Given the description of an element on the screen output the (x, y) to click on. 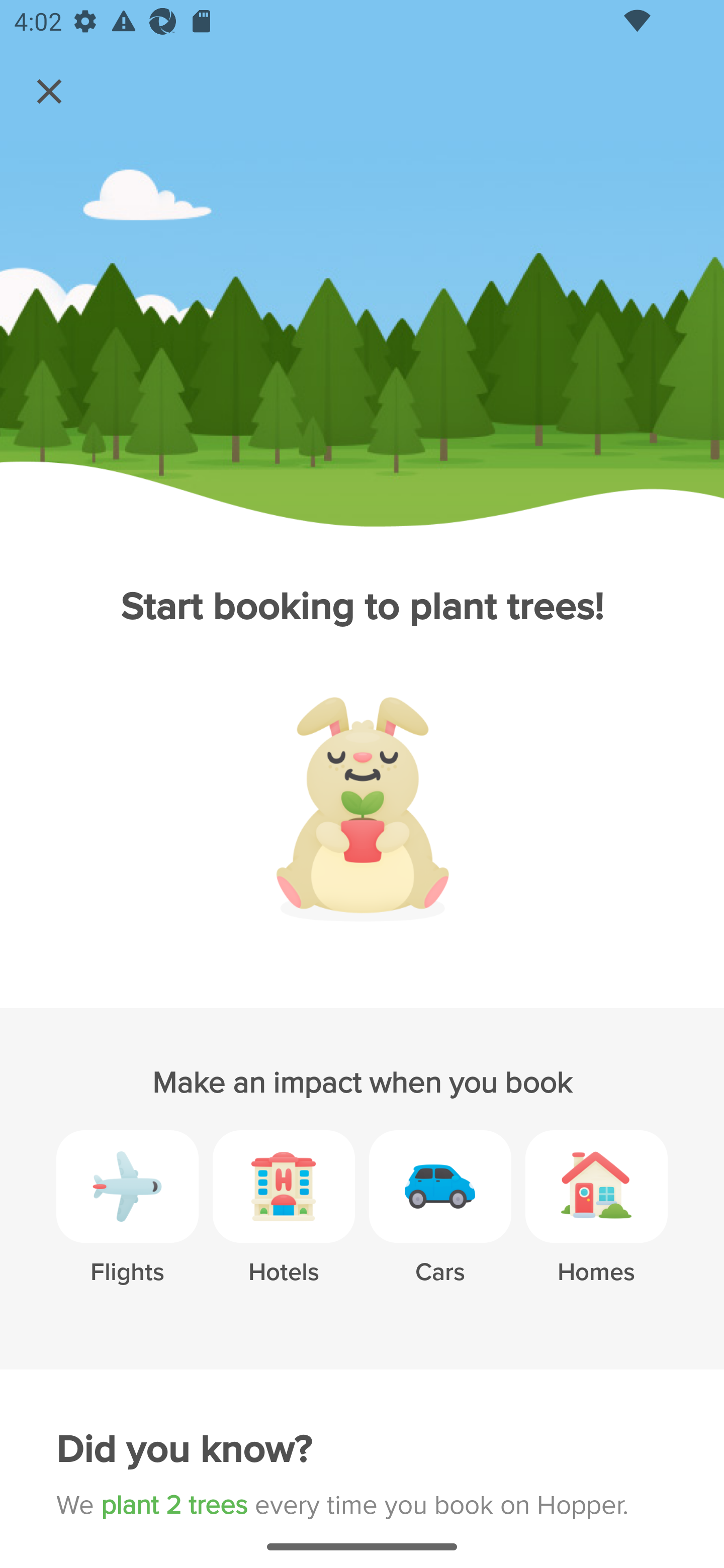
Navigate up (49, 91)
Flights (127, 1221)
Hotels (283, 1221)
Cars (440, 1221)
Homes (596, 1221)
